Given the description of an element on the screen output the (x, y) to click on. 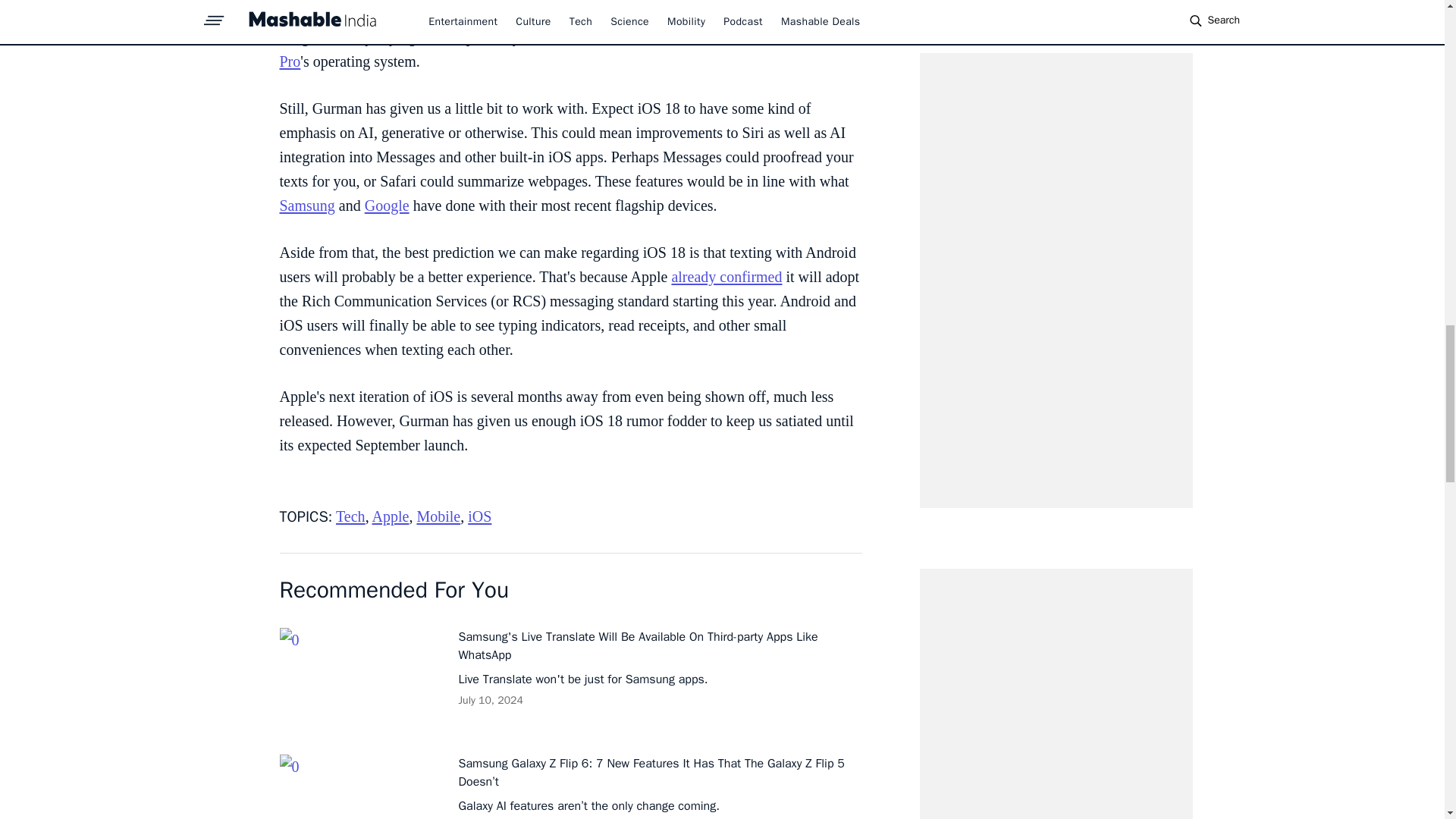
Power On newsletter (697, 12)
iOS (479, 515)
Mobile (438, 515)
Samsung (306, 205)
Google (387, 205)
already confirmed (726, 276)
Vision Pro (563, 48)
Apple (390, 515)
Tech (350, 515)
